Given the description of an element on the screen output the (x, y) to click on. 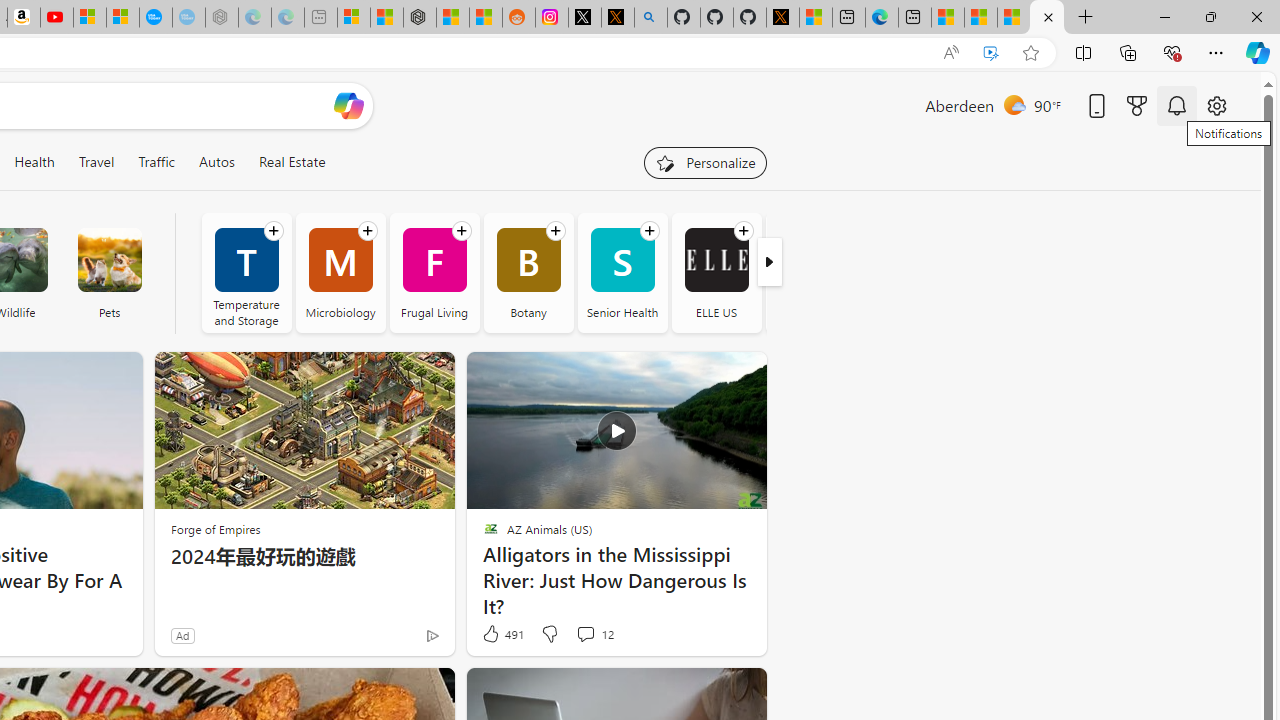
Personalize your feed" (704, 162)
Shanghai, China Weather trends | Microsoft Weather (485, 17)
Botany (527, 272)
MSNBC - MSN (981, 17)
The most popular Google 'how to' searches - Sleeping (188, 17)
Senior Health (622, 272)
